Given the description of an element on the screen output the (x, y) to click on. 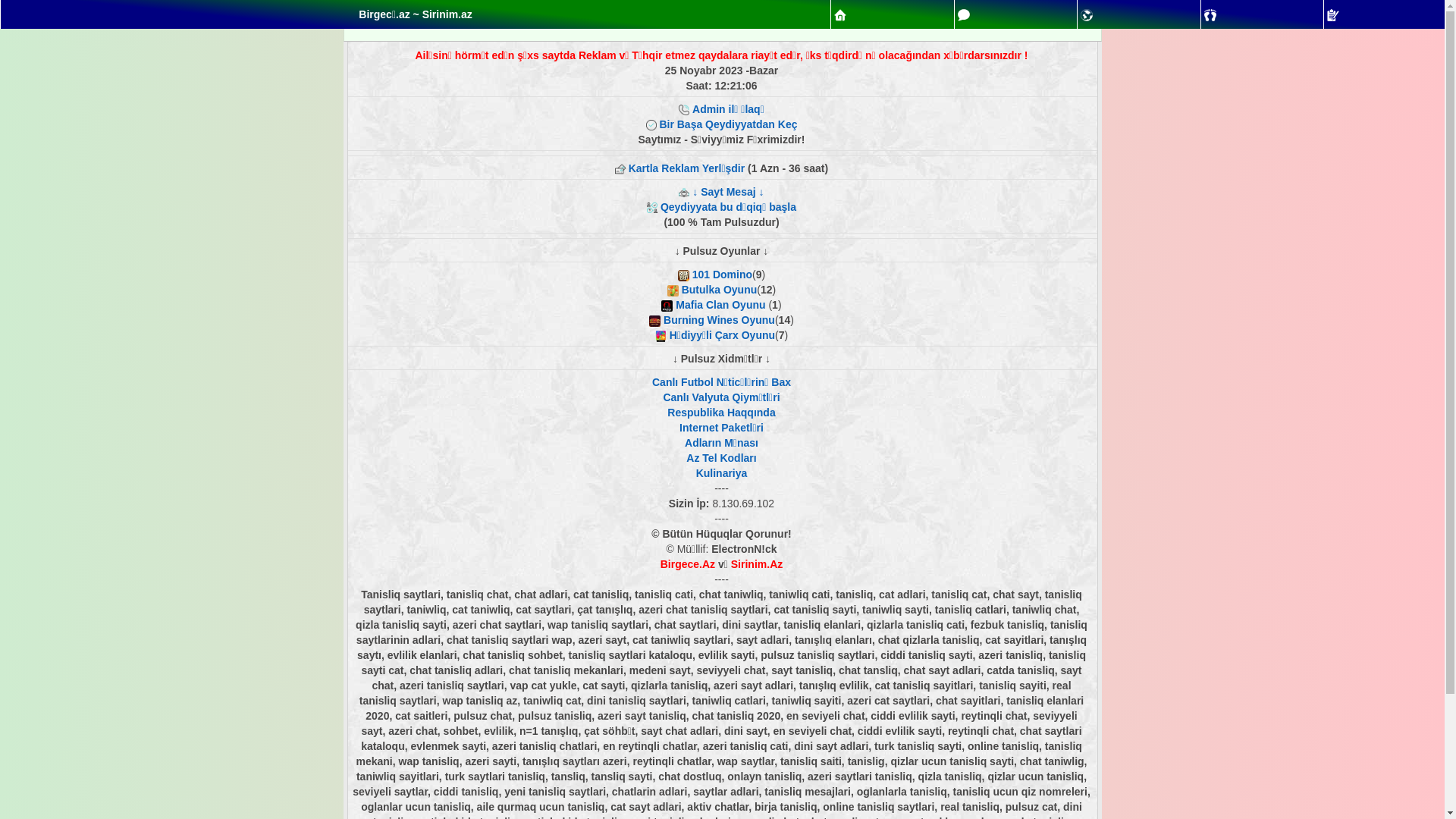
Mesajlar Element type: hover (963, 15)
Qonaqlar Element type: hover (1210, 15)
Mafia Clan Oyunu Element type: text (720, 304)
Mektublar Element type: hover (1086, 15)
Kulinariya Element type: text (721, 473)
Burning Wines Oyunu Element type: text (719, 319)
Ana Sehife Element type: hover (840, 15)
Birgece.Az Element type: text (687, 564)
Butulka Oyunu Element type: text (719, 289)
Sirinim.Az Element type: text (756, 564)
101 Domino Element type: text (722, 274)
